Given the description of an element on the screen output the (x, y) to click on. 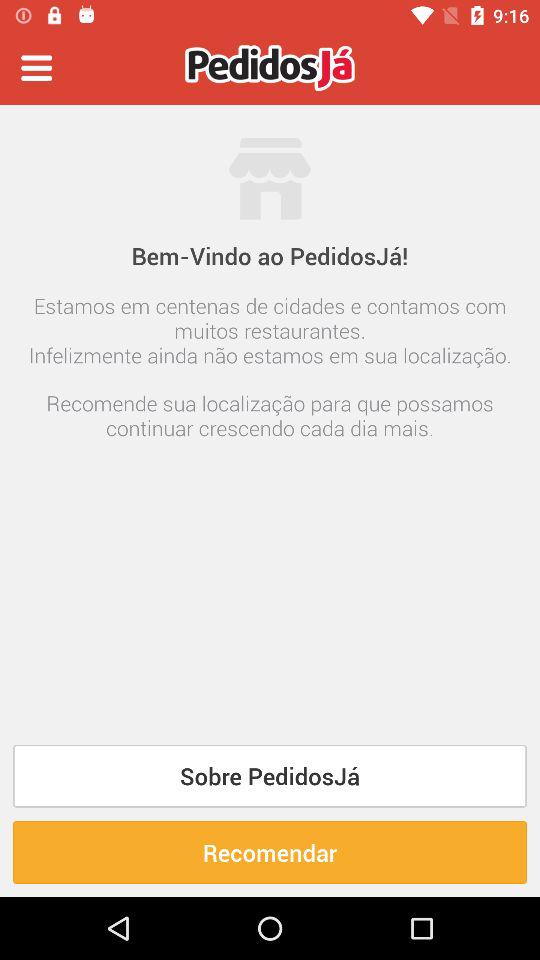
swipe until the recomendar item (269, 851)
